Given the description of an element on the screen output the (x, y) to click on. 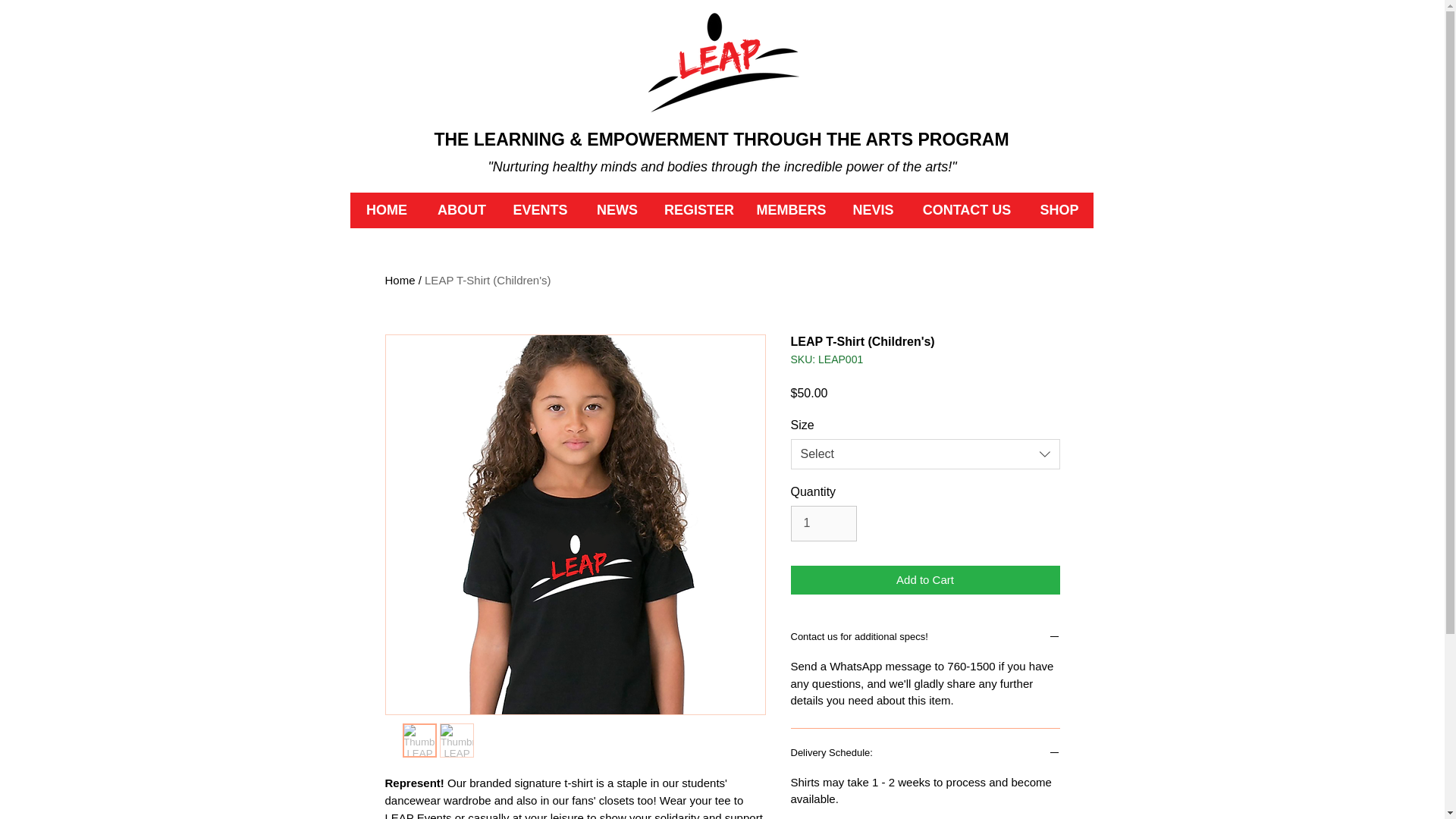
REGISTER (698, 210)
CONTACT US (967, 210)
NEWS (616, 210)
ABOUT (461, 210)
NEVIS (873, 210)
HOME (386, 210)
Home (399, 279)
1 (823, 523)
SHOP (1059, 210)
EVENTS (540, 210)
